Given the description of an element on the screen output the (x, y) to click on. 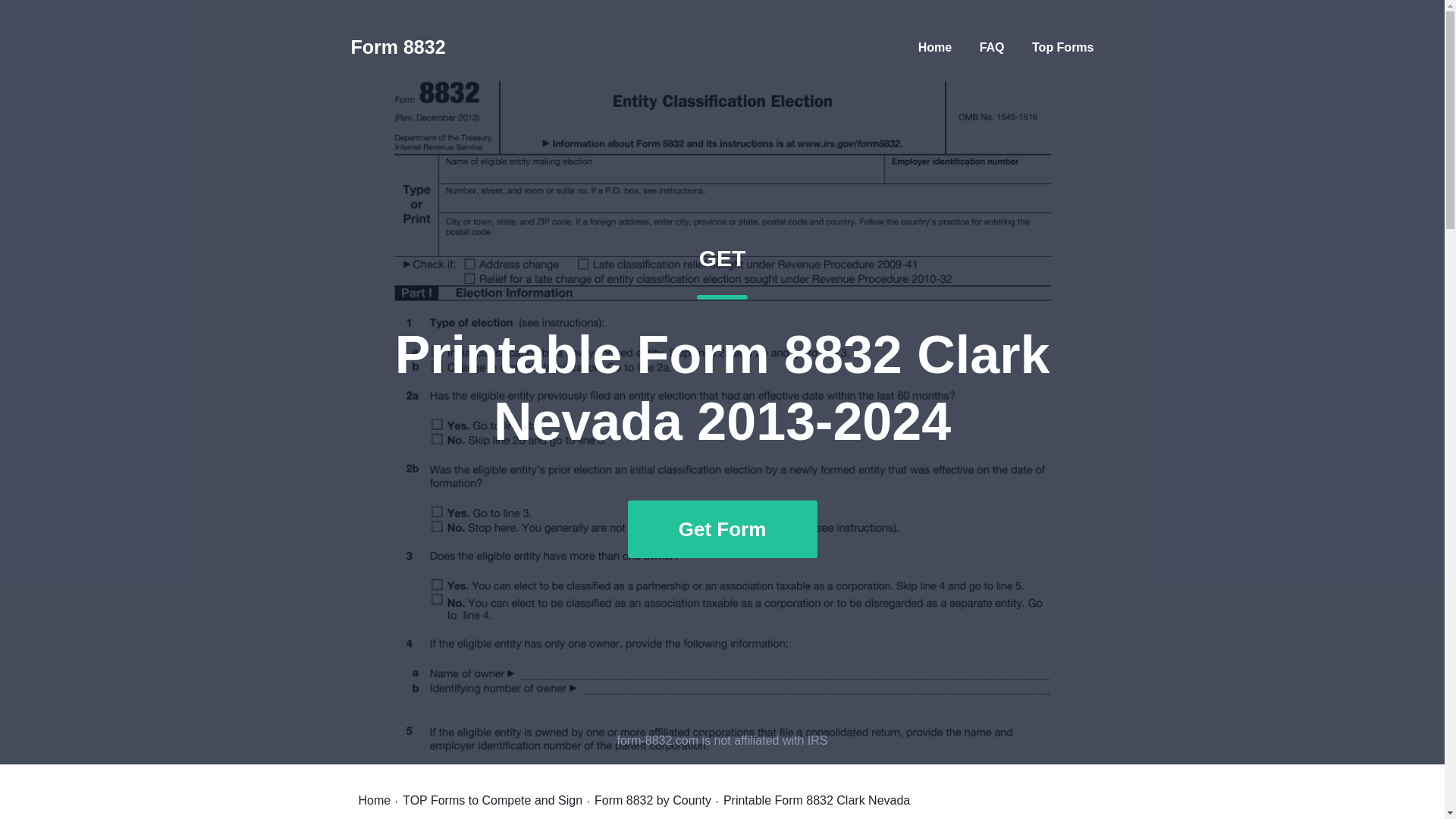
Top Forms (1062, 47)
Form 8832 by County (652, 800)
Home (397, 46)
FAQ (374, 800)
Home (993, 47)
TOP Forms to Compete and Sign (935, 47)
